Given the description of an element on the screen output the (x, y) to click on. 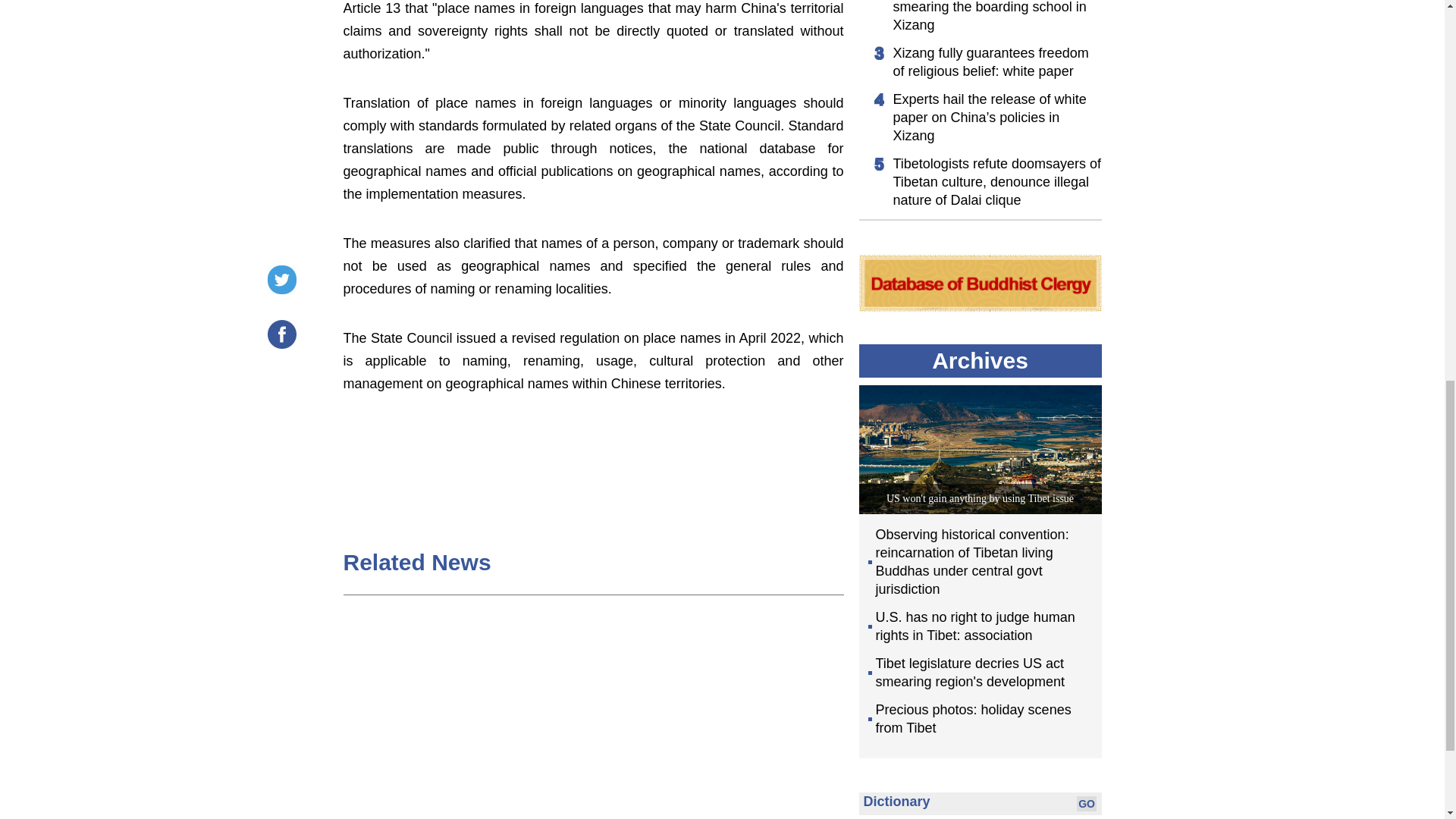
US won't gain anything by using Tibet issue (980, 498)
Precious photos: holiday scenes from Tibet (979, 719)
GO (1086, 803)
Archives (979, 360)
Dictionary (896, 801)
GO (1086, 803)
